Given the description of an element on the screen output the (x, y) to click on. 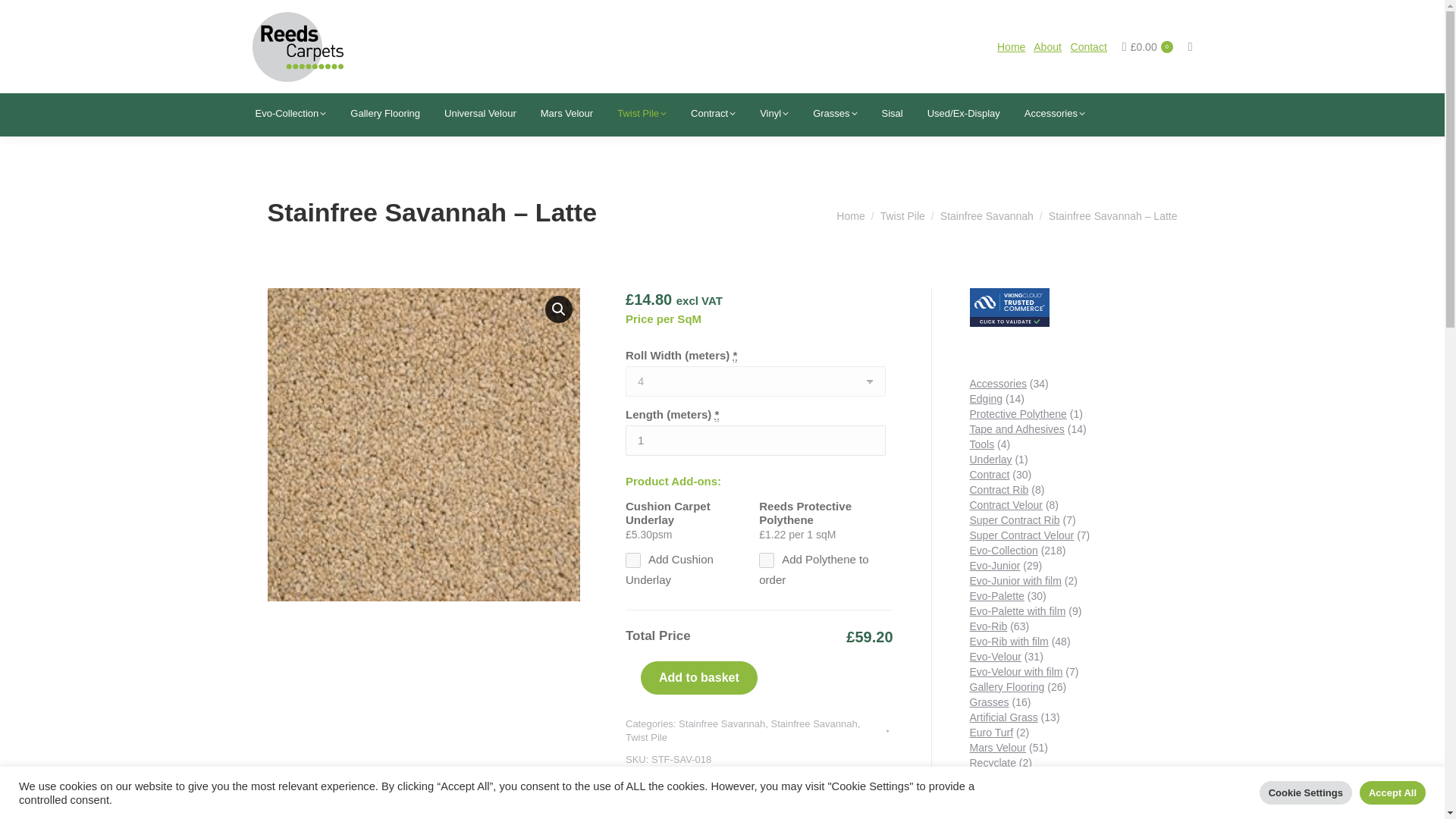
Stainfree Savannah (986, 215)
Twist Pile (641, 113)
Twist Pile (902, 215)
Vinyl (774, 113)
About (1047, 46)
Mars Velour (566, 113)
Gallery Flooring (385, 113)
Evo-Collection (290, 113)
yitbq (633, 560)
2pdam (766, 560)
